Given the description of an element on the screen output the (x, y) to click on. 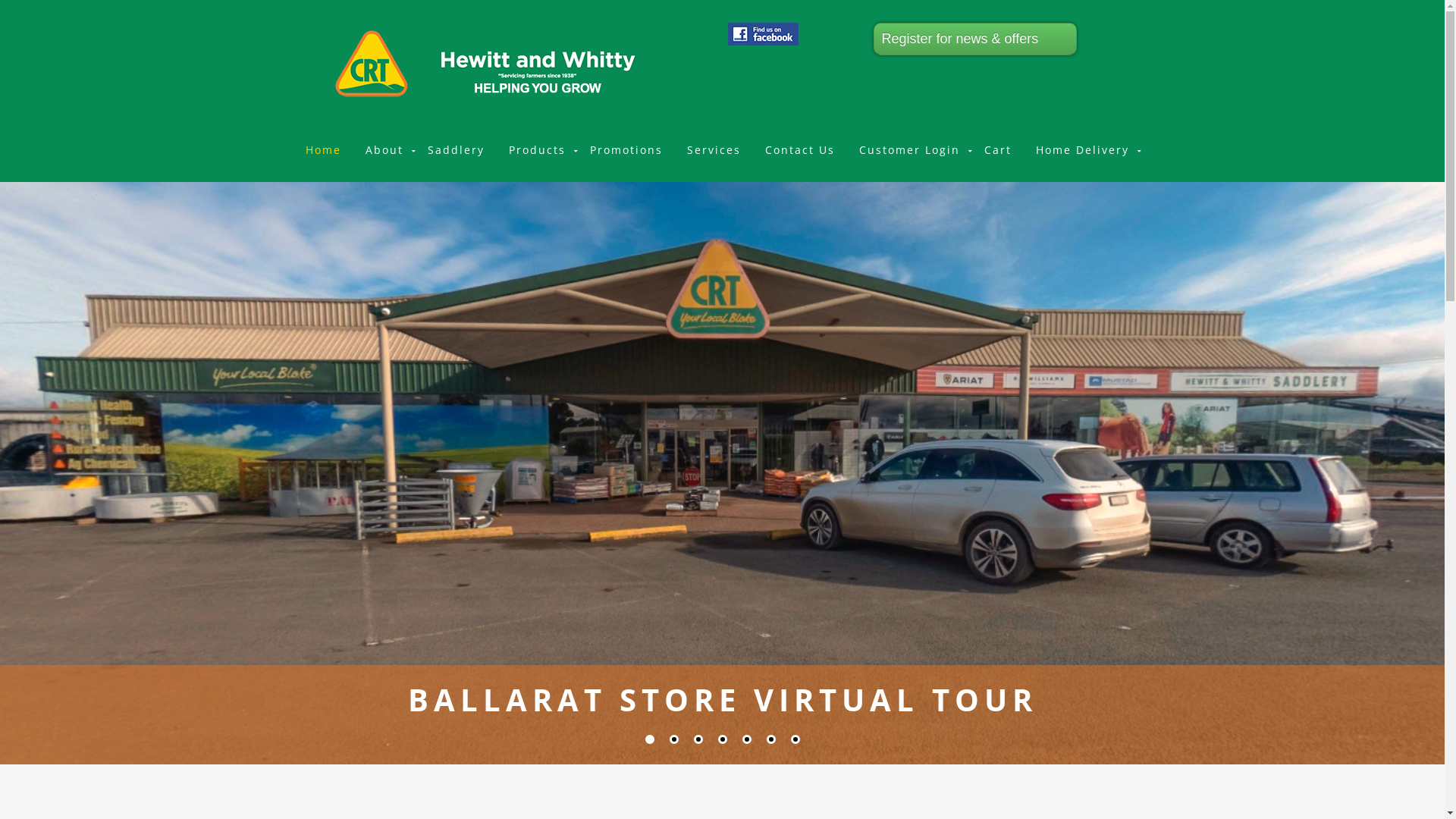
About Element type: text (384, 149)
Cart Element type: text (997, 149)
Home Delivery Element type: text (1082, 149)
Promotions Element type: text (625, 149)
Contact Us Element type: text (799, 149)
Customer Login Element type: text (908, 149)
Saddlery Element type: text (455, 149)
Home Element type: text (322, 149)
Services Element type: text (713, 149)
Products Element type: text (536, 149)
